Given the description of an element on the screen output the (x, y) to click on. 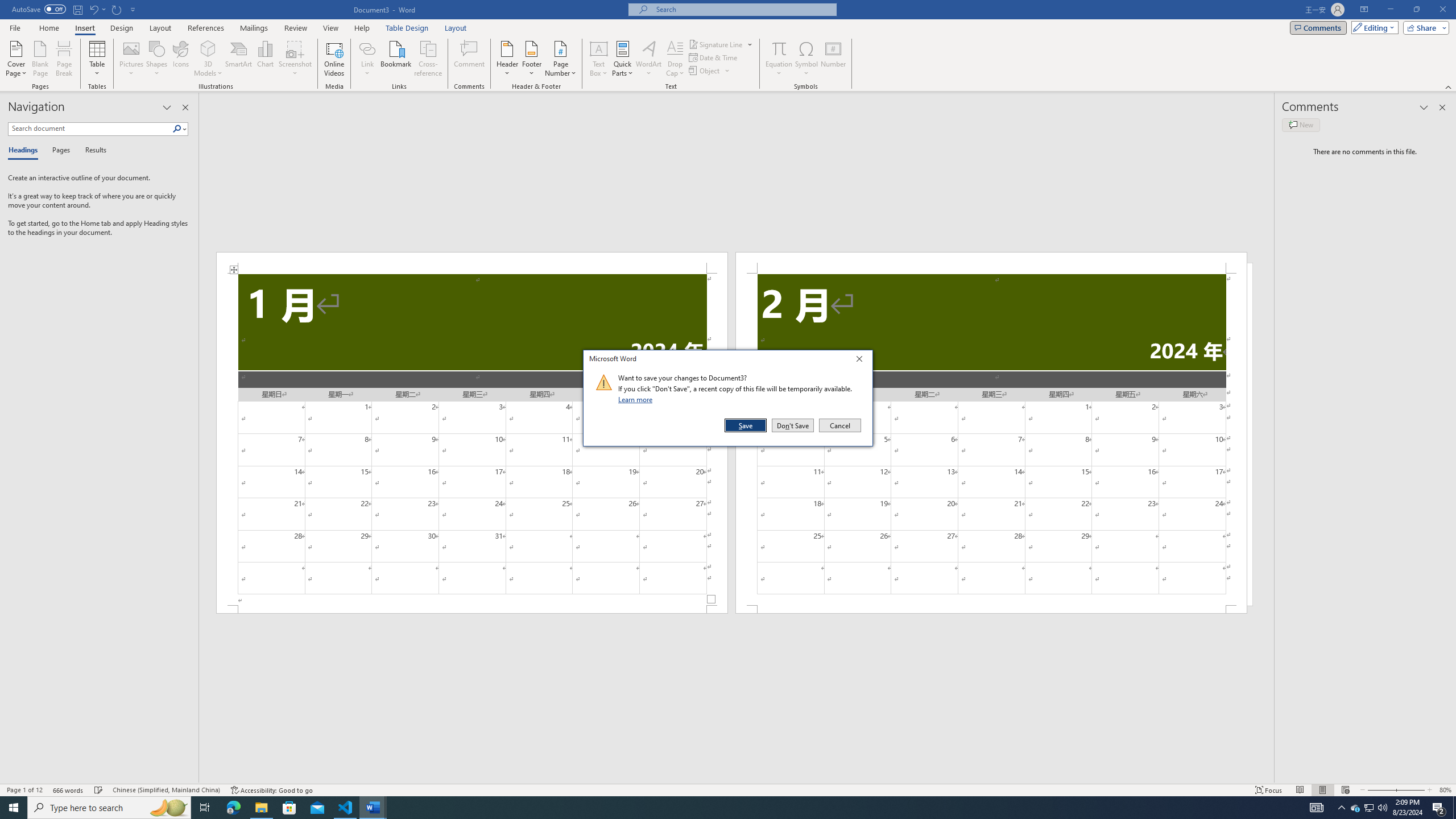
Mailings (253, 28)
